Given the description of an element on the screen output the (x, y) to click on. 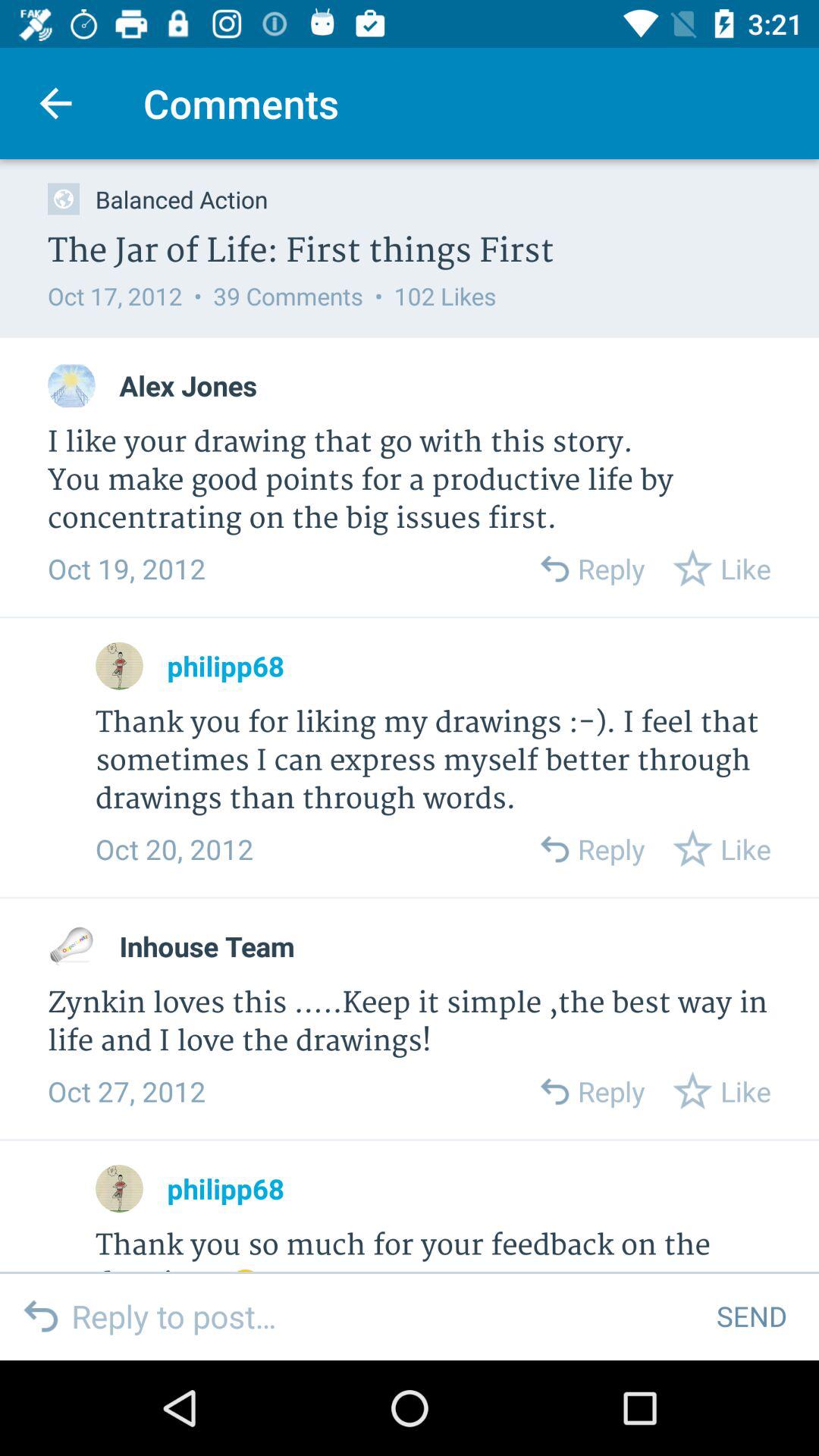
go to tp (119, 665)
